Given the description of an element on the screen output the (x, y) to click on. 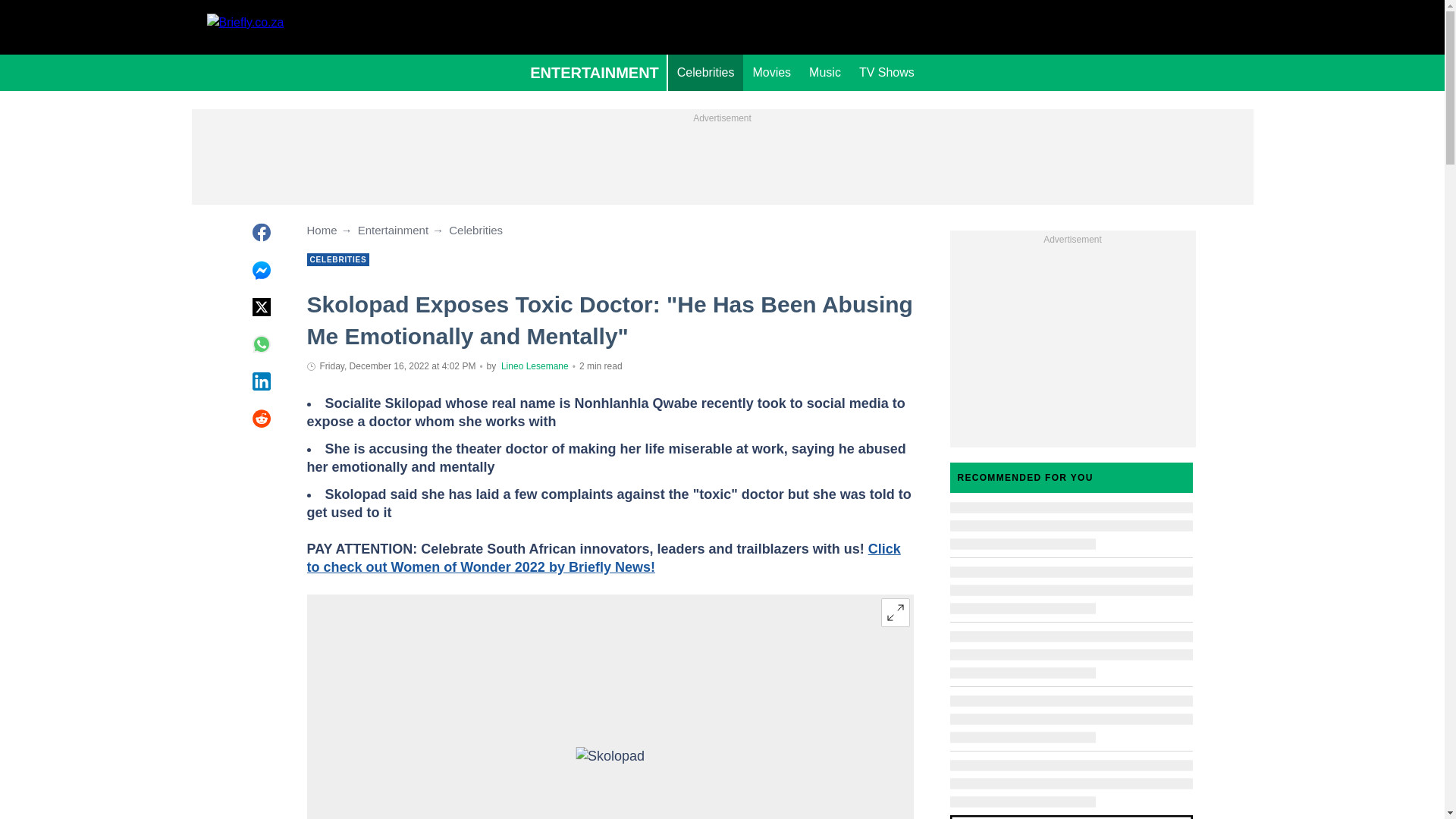
ENTERTAINMENT (594, 72)
Celebrities (706, 72)
Movies (770, 72)
Music (824, 72)
Expand image (895, 612)
Skolopad (610, 764)
Author page (534, 366)
TV Shows (886, 72)
